Given the description of an element on the screen output the (x, y) to click on. 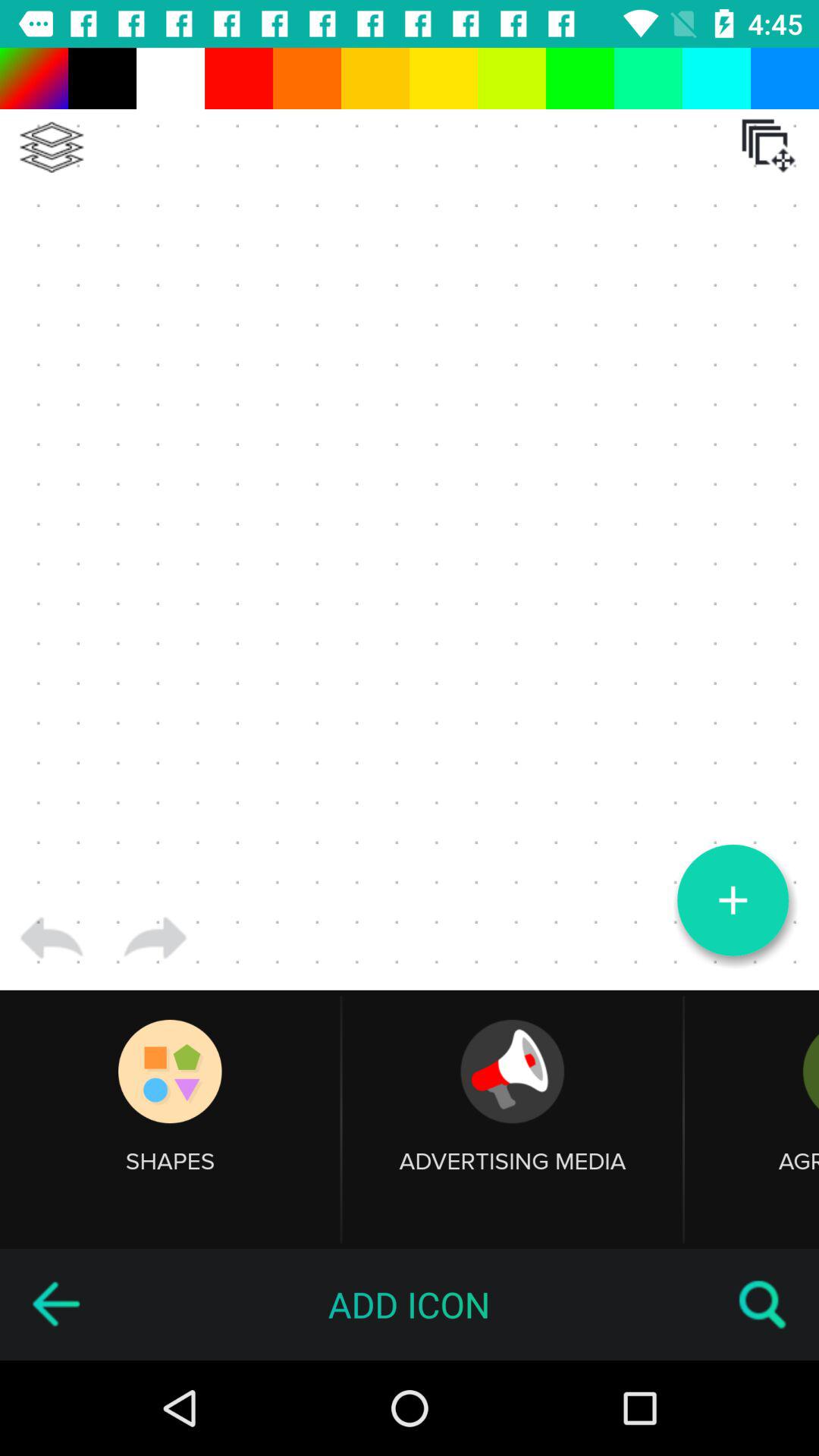
open item to the right of the add icon item (763, 1304)
